Given the description of an element on the screen output the (x, y) to click on. 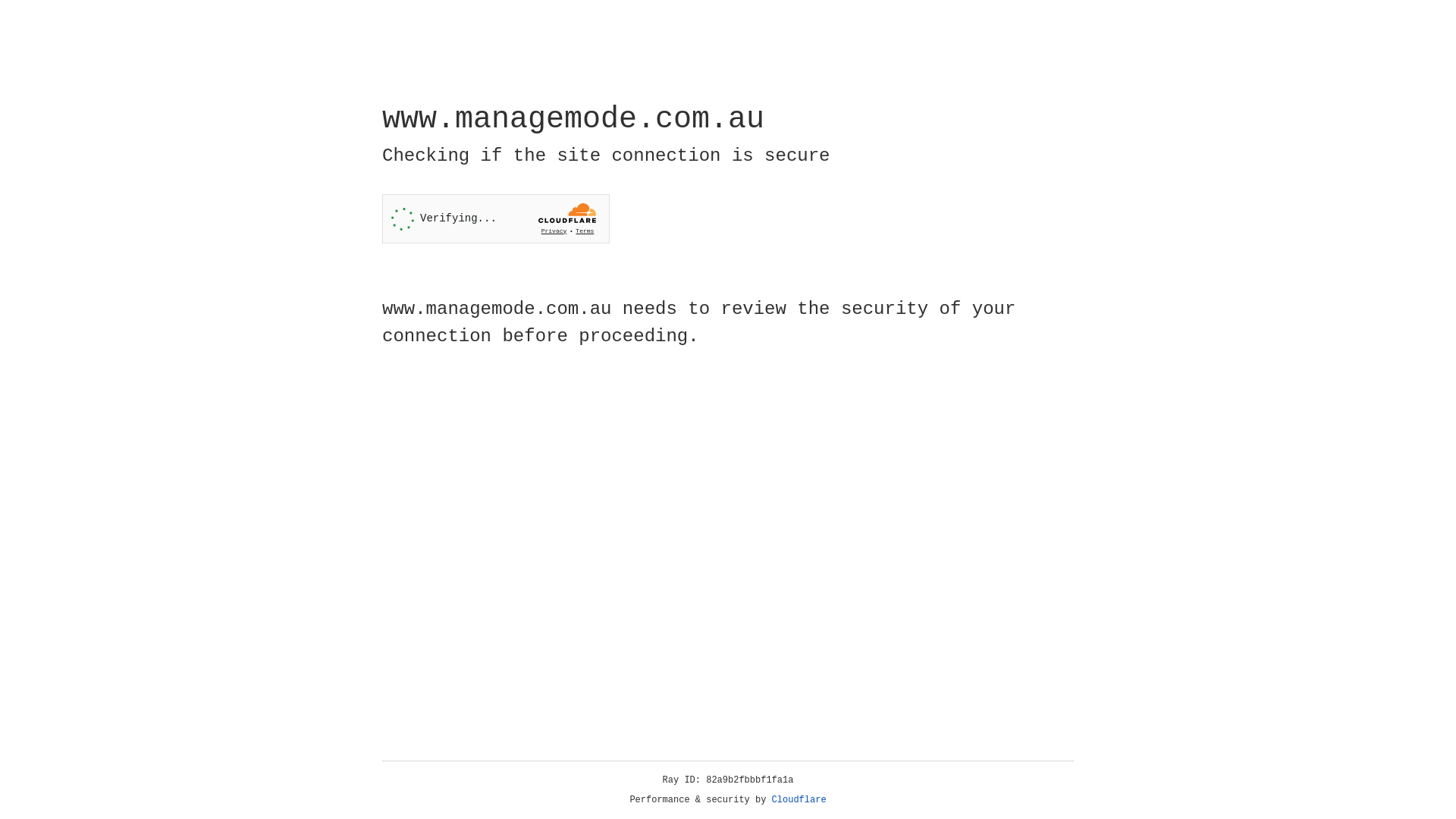
Widget containing a Cloudflare security challenge Element type: hover (495, 218)
Cloudflare Element type: text (798, 799)
